Given the description of an element on the screen output the (x, y) to click on. 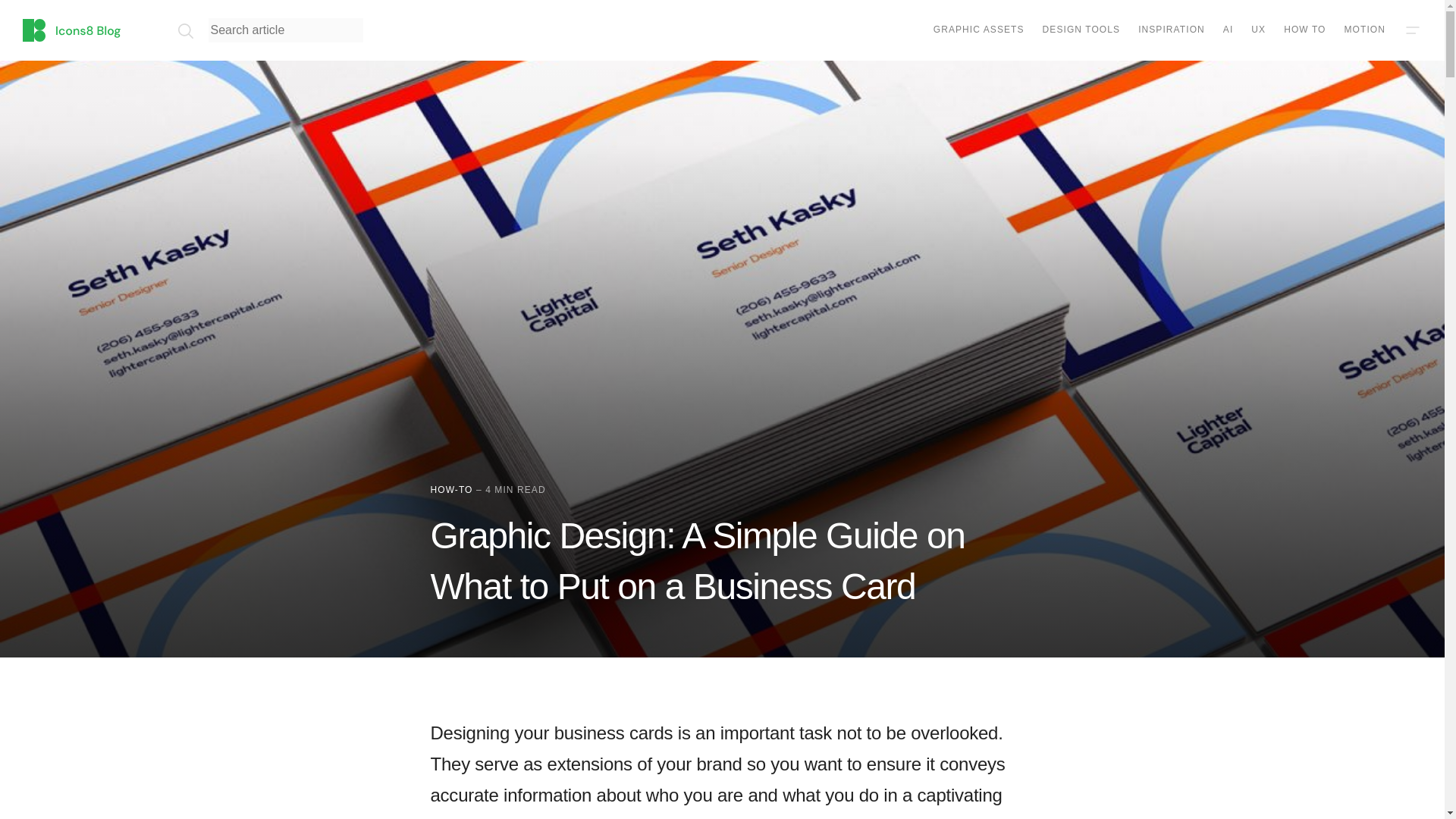
GRAPHIC ASSETS (979, 29)
INSPIRATION (1171, 29)
HOW TO (1304, 29)
MOTION (1364, 29)
AI (1228, 29)
DESIGN TOOLS (1081, 29)
UX (1257, 29)
